Given the description of an element on the screen output the (x, y) to click on. 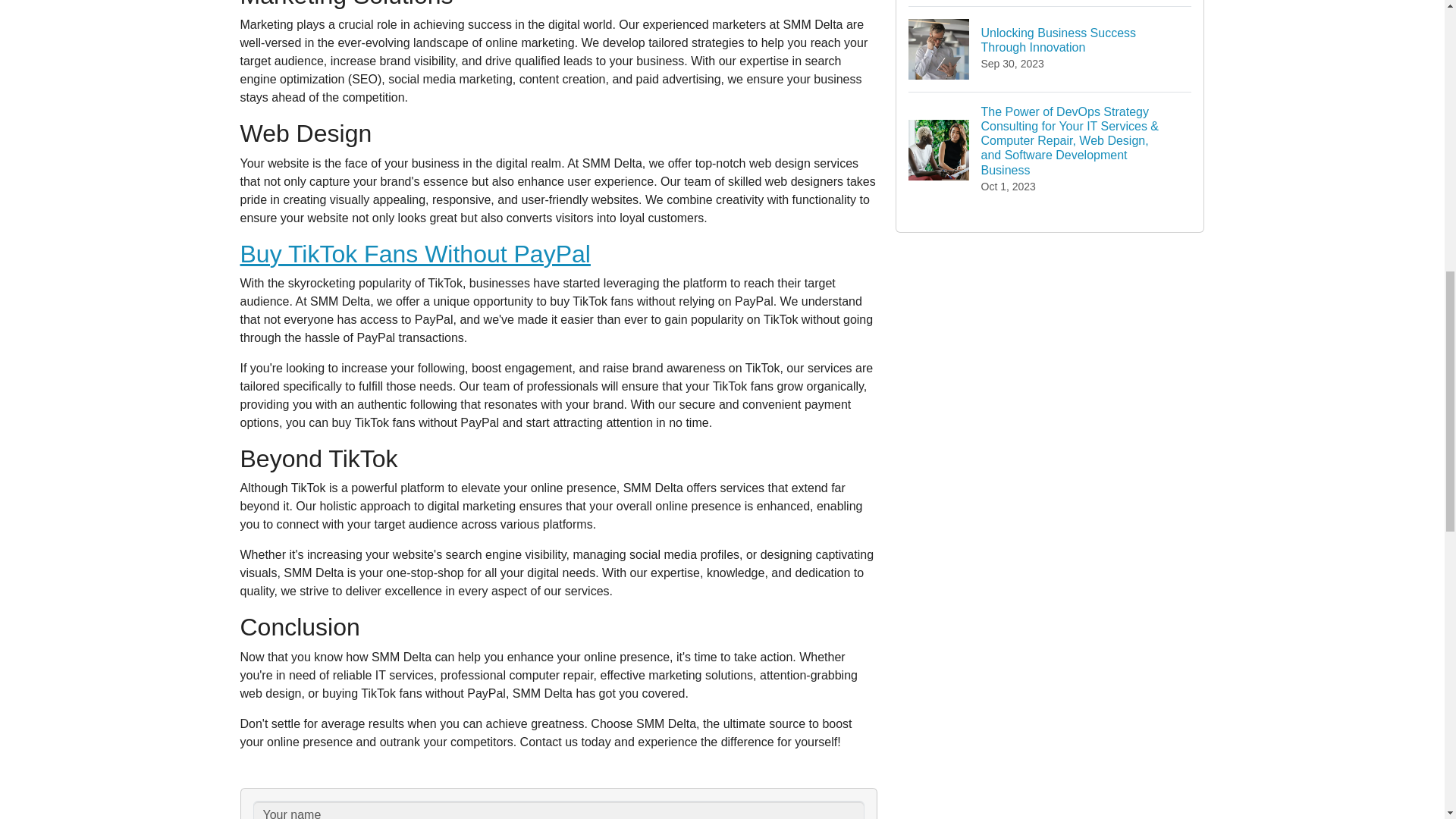
Buy TikTok Fans Without PayPal (414, 253)
